Given the description of an element on the screen output the (x, y) to click on. 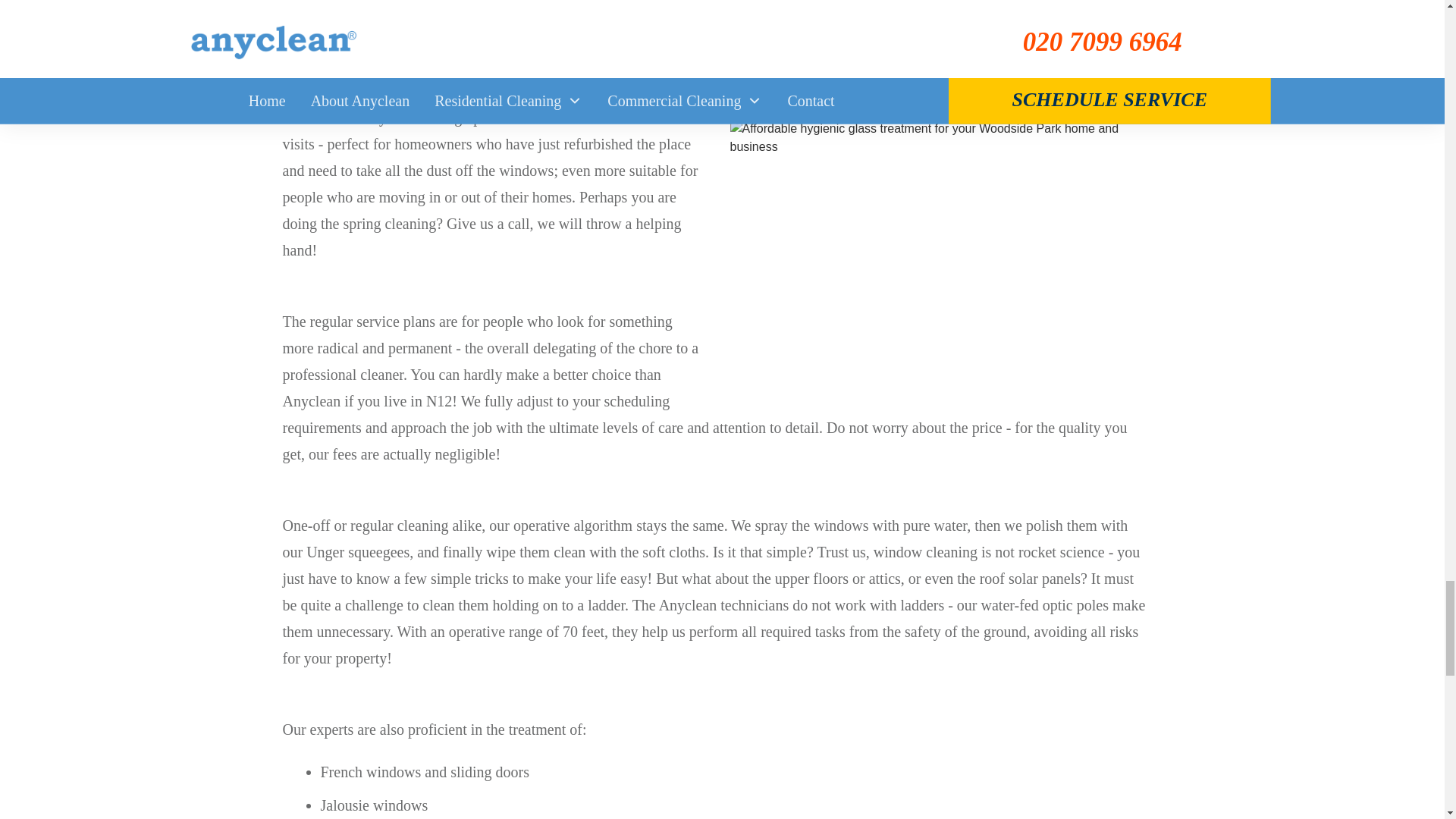
window-cleaning-services-woodside-park-281 (938, 258)
